Given the description of an element on the screen output the (x, y) to click on. 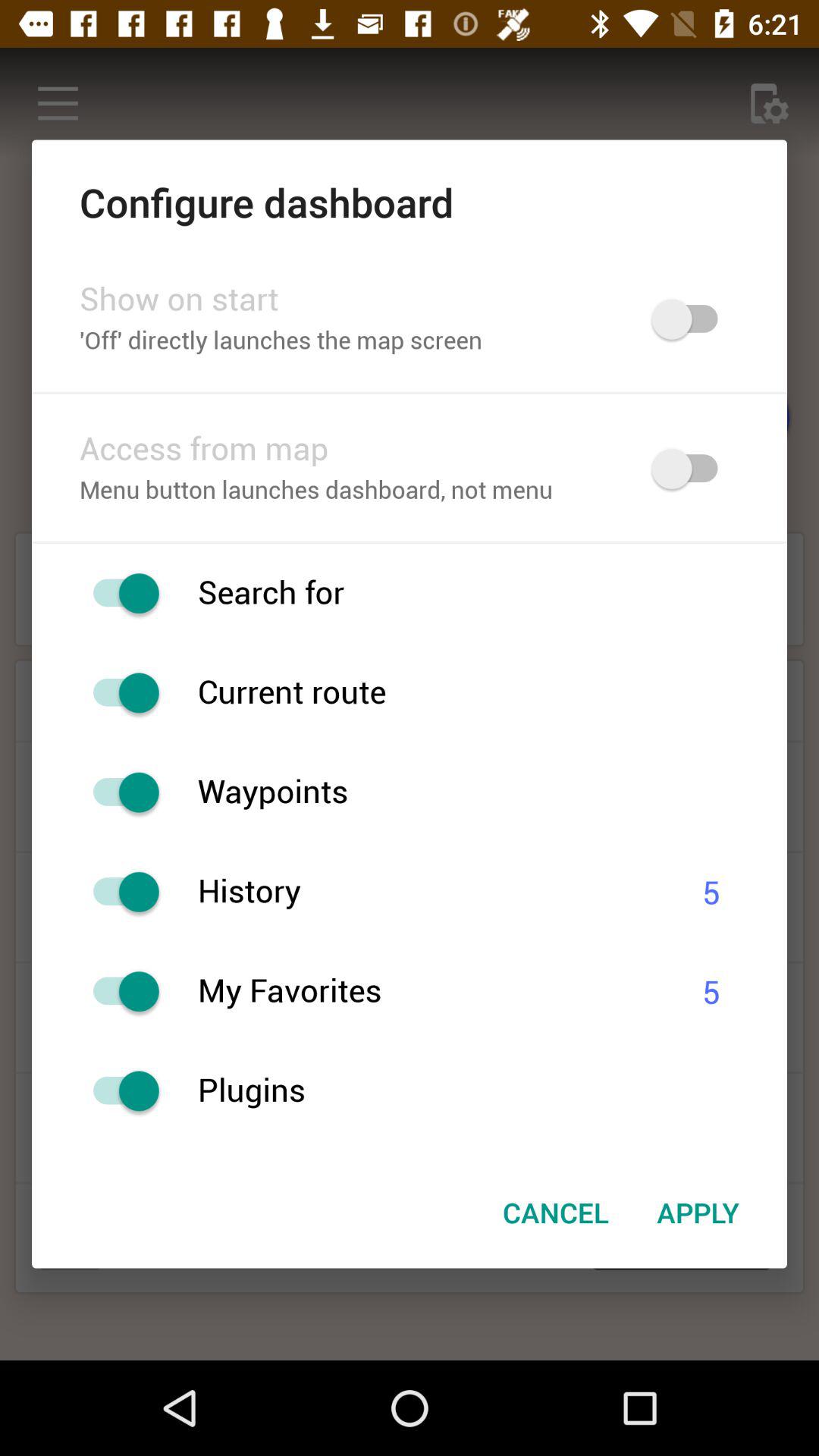
open the icon to the left of apply icon (555, 1212)
